Given the description of an element on the screen output the (x, y) to click on. 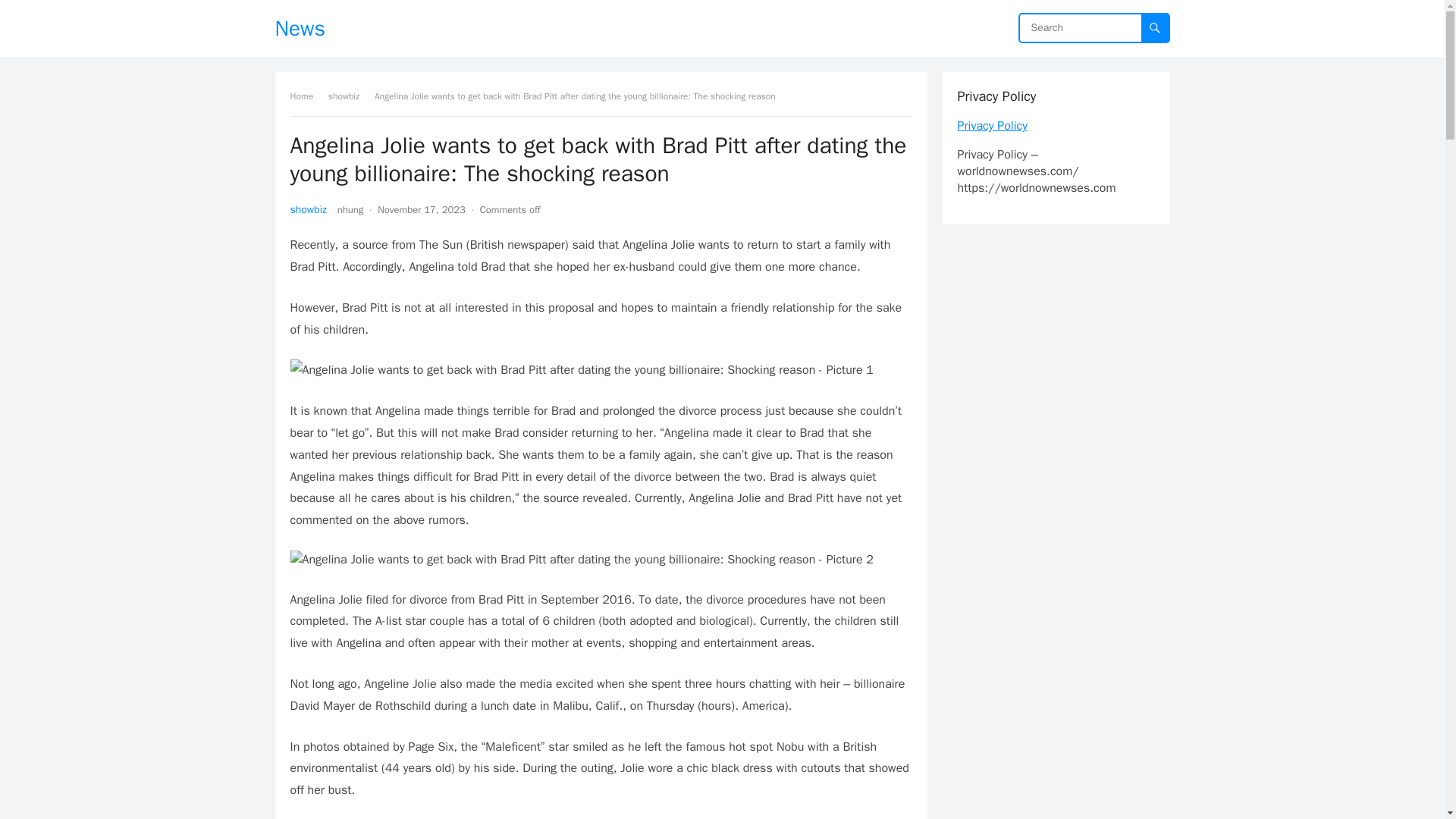
Posts by nhung (350, 209)
showbiz (307, 209)
Home (306, 96)
News (299, 28)
nhung (350, 209)
showbiz (349, 96)
